Given the description of an element on the screen output the (x, y) to click on. 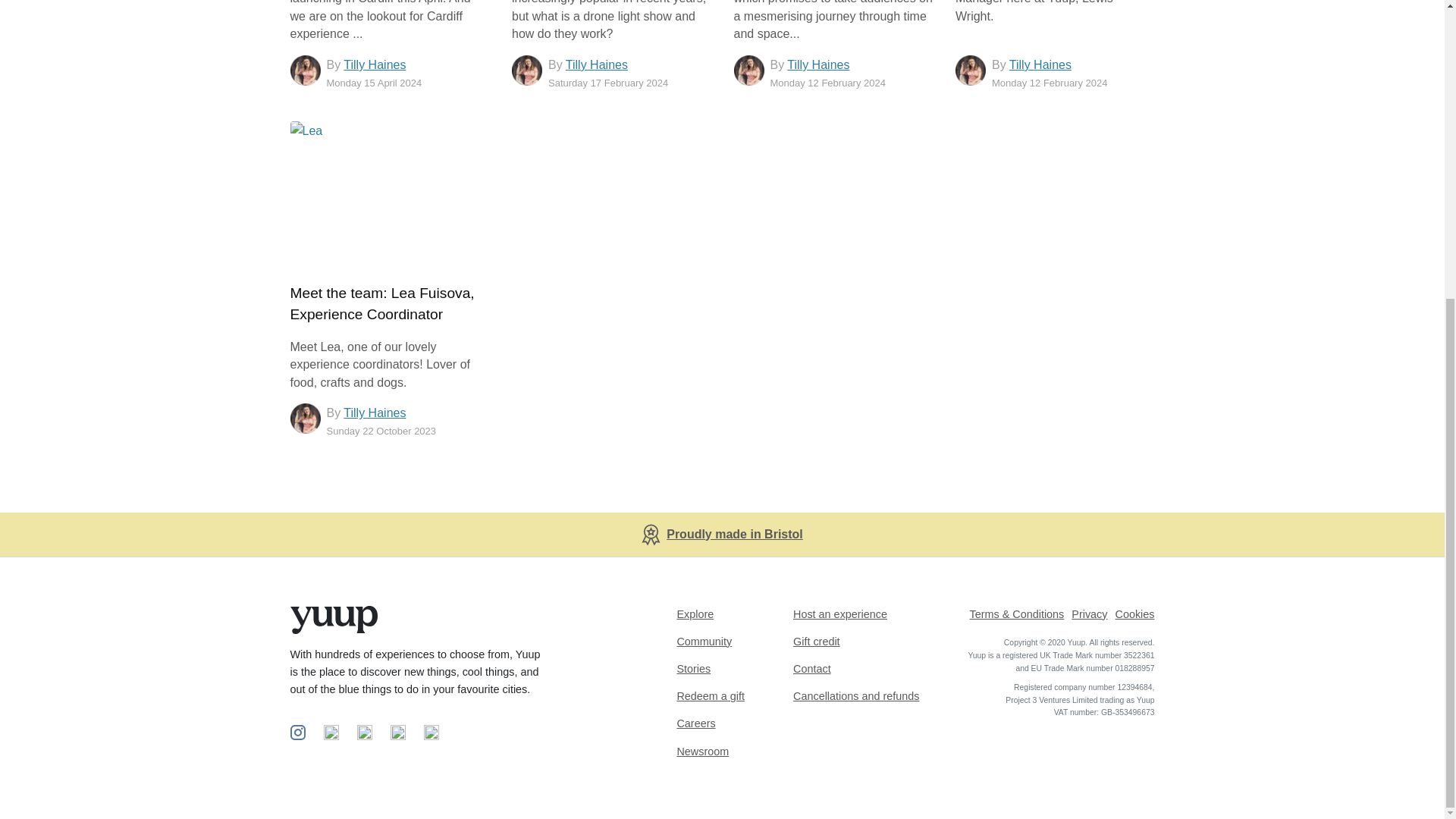
Tilly Haines (1040, 64)
Tilly Haines (817, 64)
Tilly Haines (374, 64)
Tilly Haines (374, 412)
Tilly Haines (596, 64)
Meet the team: Lea Fuisova, Experience Coordinator (381, 303)
Proudly made in Bristol (734, 534)
